Given the description of an element on the screen output the (x, y) to click on. 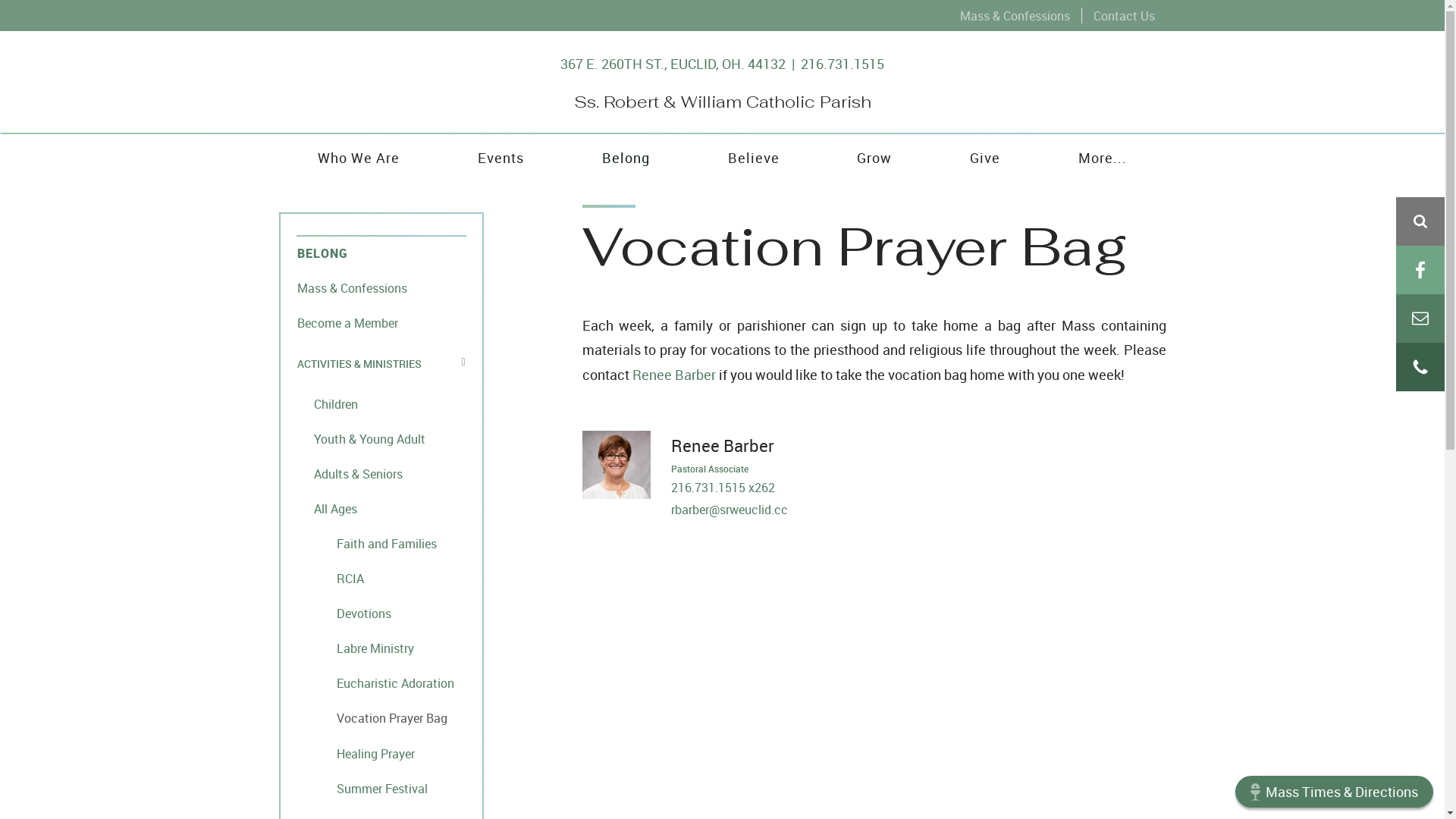
Vocation Prayer Bag Element type: text (381, 717)
BELONG Element type: text (381, 252)
Children Element type: text (381, 402)
More... Element type: text (1102, 157)
Become a Member Element type: text (381, 321)
Contact Us Element type: text (1123, 15)
Renee Barber Element type: text (721, 445)
Grow Element type: text (874, 157)
Belong Element type: text (625, 157)
Mass & Confessions Element type: text (381, 286)
Email Element type: text (1420, 318)
All Ages Element type: text (381, 507)
Mass & Confessions Element type: text (1013, 15)
Eucharistic Adoration Element type: text (381, 682)
Summer Festival Element type: text (381, 787)
Healing Prayer Element type: text (381, 752)
Faith and Families Element type: text (381, 542)
Phone Element type: text (1420, 366)
Who We Are Element type: text (359, 157)
Give Element type: text (985, 157)
Labre Ministry Element type: text (381, 647)
Renee Barber Element type: text (673, 374)
216.731.1515 x262 Element type: text (722, 487)
Devotions Element type: text (381, 612)
Facebook Element type: text (1420, 269)
RCIA Element type: text (381, 577)
rbarbersrweuclid.cc Element type: text (917, 509)
Believe Element type: text (753, 157)
Adults & Seniors Element type: text (381, 472)
367 E. 260TH ST., EUCLID, OH. 44132  |  216.731.1515 Element type: text (722, 64)
Youth & Young Adult Element type: text (381, 437)
Ss. Robert & William Catholic Parish Element type: text (721, 101)
Events Element type: text (500, 157)
